Given the description of an element on the screen output the (x, y) to click on. 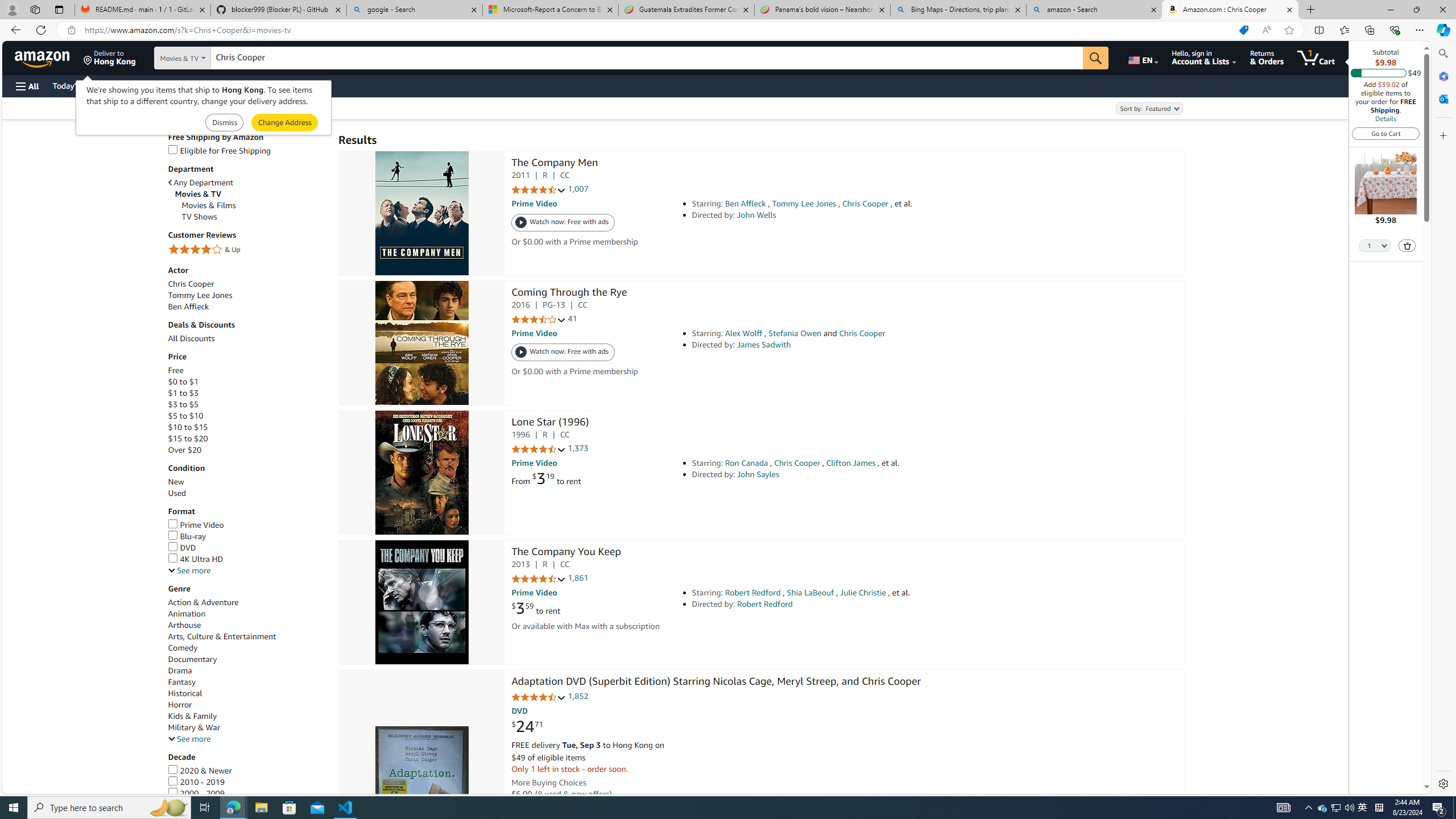
Choose a language for shopping. (1142, 57)
4.3 out of 5 stars (538, 579)
4 Stars & Up (247, 250)
Open Menu (26, 86)
Movies & Films (208, 205)
Stefania Owen (794, 333)
See more, Format (189, 570)
Directed by: John Sayles (850, 474)
Directed by: Robert Redford (850, 604)
Shia LaBeouf (810, 592)
Drama (179, 670)
Fantasy (247, 682)
